Given the description of an element on the screen output the (x, y) to click on. 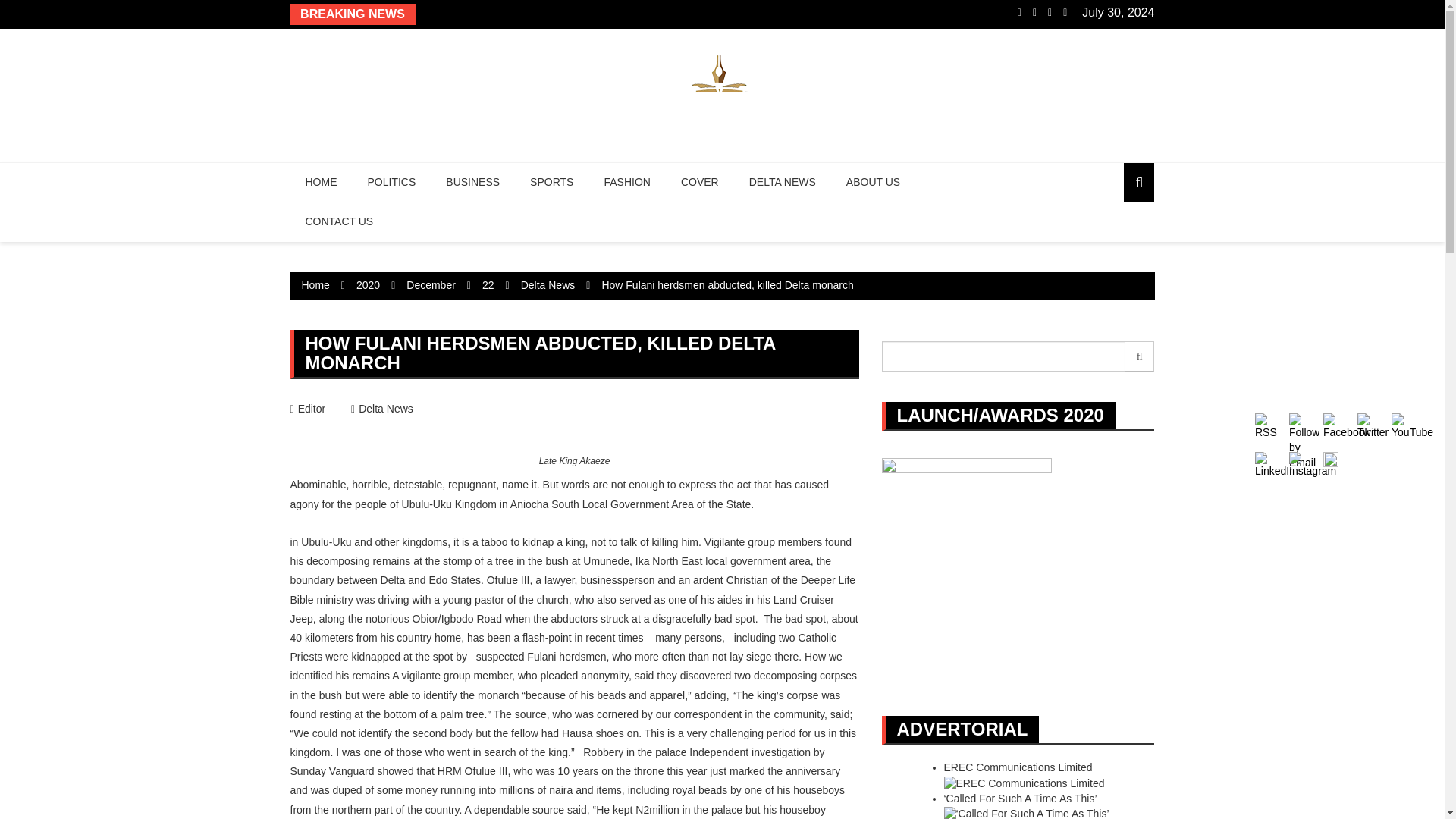
COVER (699, 182)
Delta News (548, 285)
Editor (306, 408)
EREC Communications Limited (1017, 767)
POLITICS (391, 182)
HOME (320, 182)
Home (315, 285)
FASHION (626, 182)
EREC Communications Limited (1017, 767)
BUSINESS (472, 182)
22 (488, 285)
December (430, 285)
2020 (368, 285)
Search (1139, 356)
How Fulani herdsmen abducted, killed Delta monarch (727, 285)
